Given the description of an element on the screen output the (x, y) to click on. 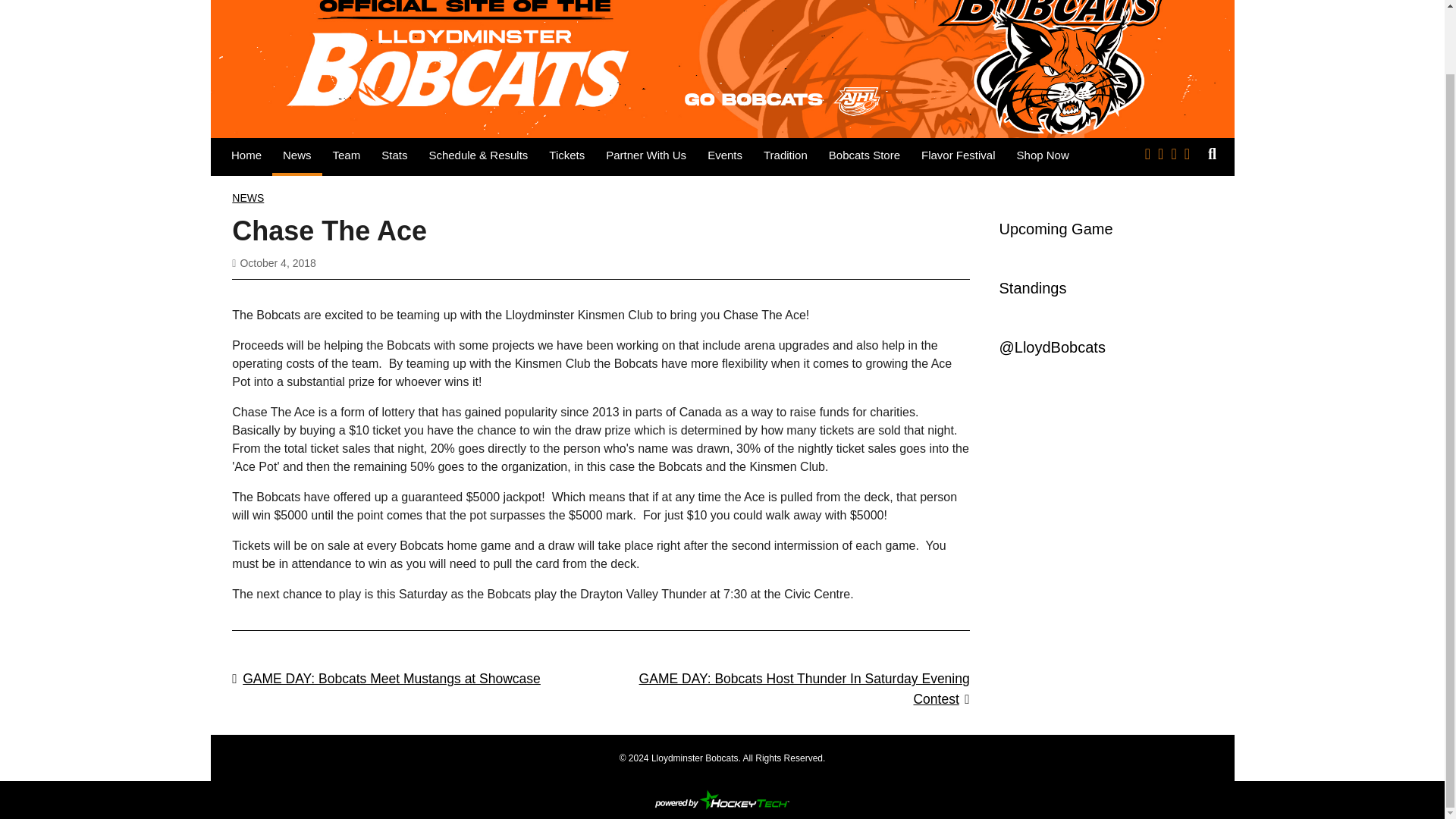
News (296, 155)
Home (246, 155)
Stats (394, 155)
Team (346, 155)
Tickets (566, 155)
